Given the description of an element on the screen output the (x, y) to click on. 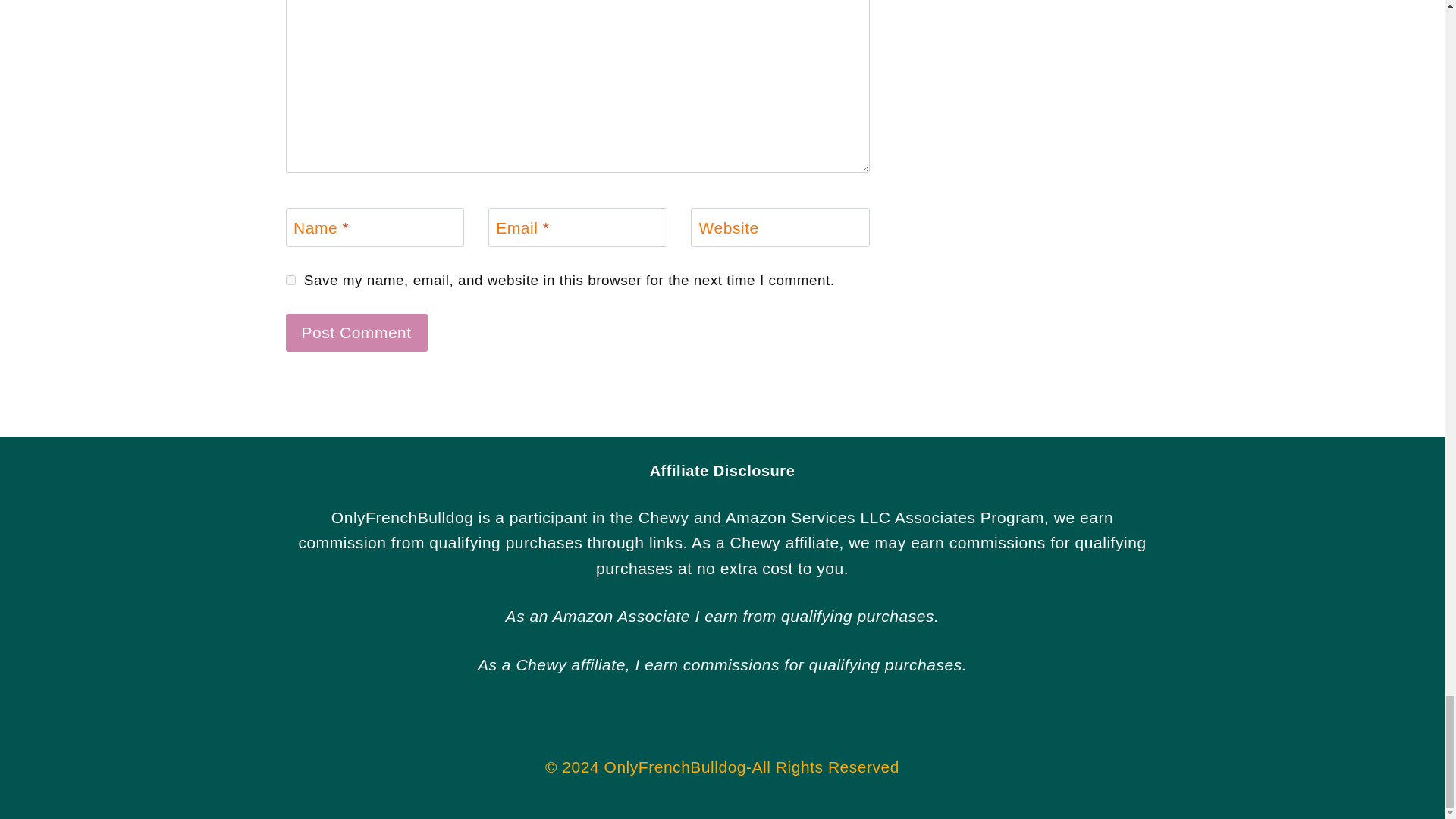
yes (290, 280)
Post Comment (355, 332)
